Given the description of an element on the screen output the (x, y) to click on. 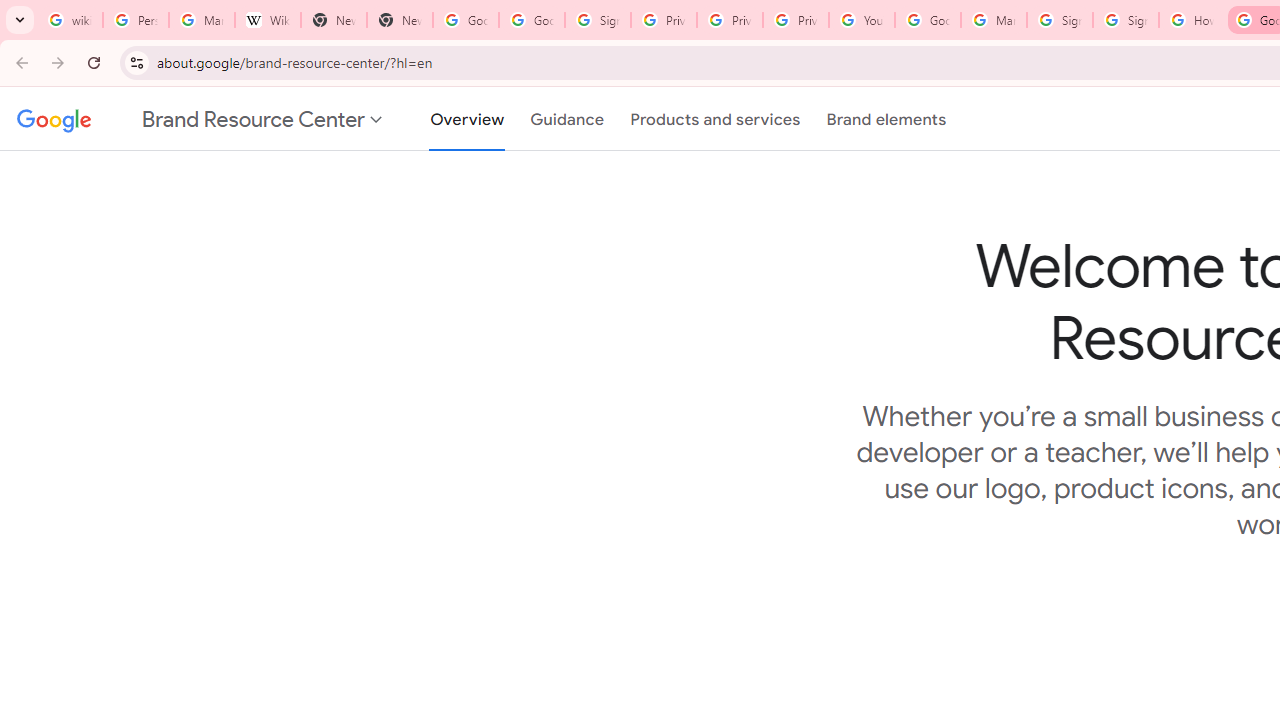
Manage your Location History - Google Search Help (202, 20)
Guidance (567, 119)
